Given the description of an element on the screen output the (x, y) to click on. 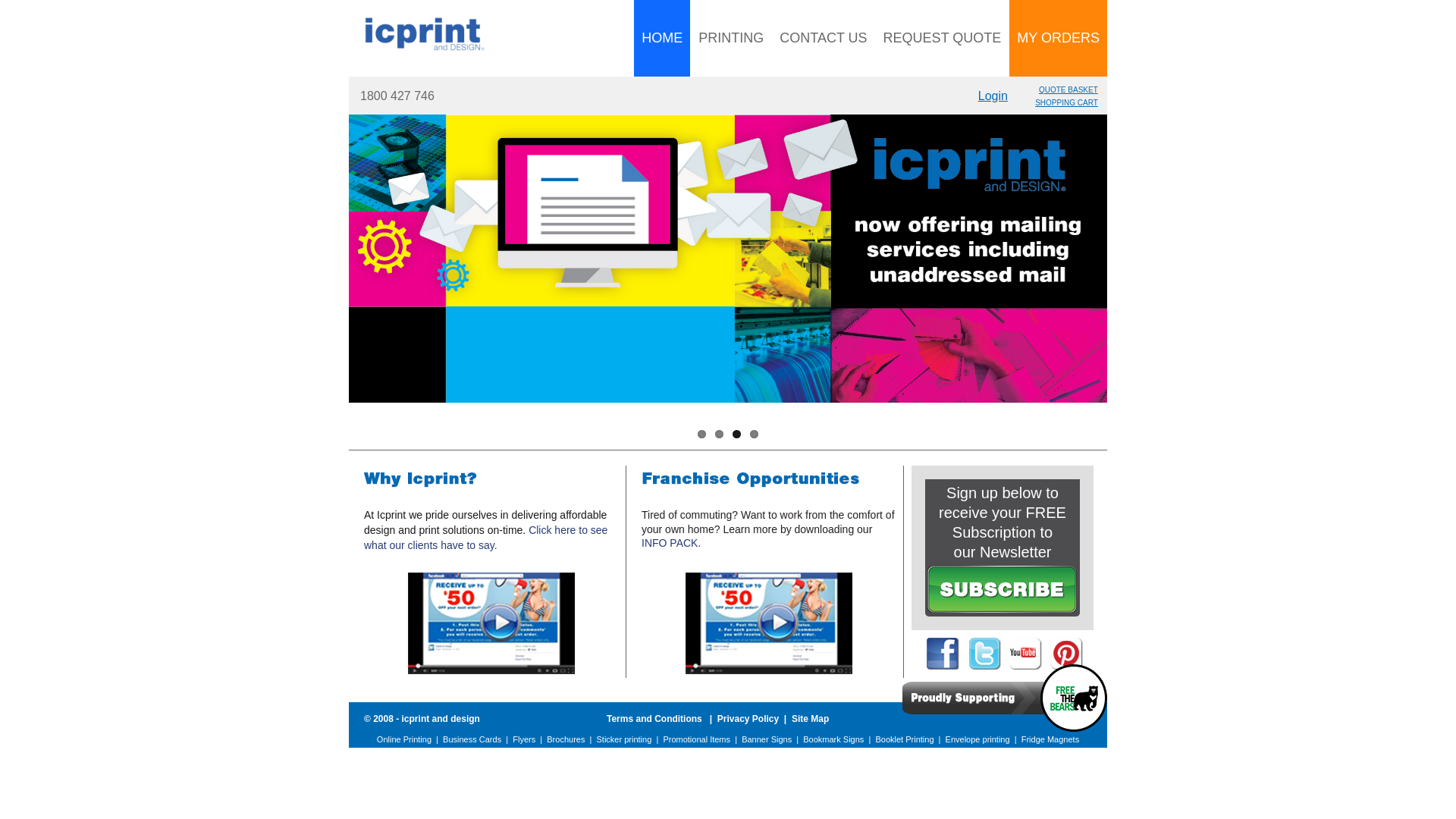
HOME Element type: text (661, 38)
Site Map Element type: text (809, 718)
QUOTE BASKET Element type: text (1068, 89)
3 Element type: text (736, 433)
Bookmark Signs Element type: text (833, 738)
MY ORDERS Element type: text (1058, 38)
Fridge Magnets Element type: text (1050, 738)
CONTACT US Element type: text (822, 38)
Brochures Element type: text (565, 738)
4 Element type: text (753, 433)
Terms and Conditions   |   Element type: text (661, 718)
Login Element type: text (992, 95)
SHOPPING CART Element type: text (1066, 102)
Envelope printing Element type: text (977, 738)
PRINTING Element type: text (730, 38)
2 Element type: text (719, 433)
Banner Signs Element type: text (766, 738)
INFO PACK. Element type: text (670, 542)
Promotional Items Element type: text (696, 738)
Flyers Element type: text (523, 738)
Click here to see
what our clients have to say. Element type: text (485, 537)
REQUEST QUOTE Element type: text (942, 38)
Privacy Policy  |   Element type: text (754, 718)
Business Cards Element type: text (471, 738)
1 Element type: text (701, 433)
Online Printing Element type: text (403, 738)
Sticker printing Element type: text (624, 738)
Booklet Printing Element type: text (904, 738)
